Given the description of an element on the screen output the (x, y) to click on. 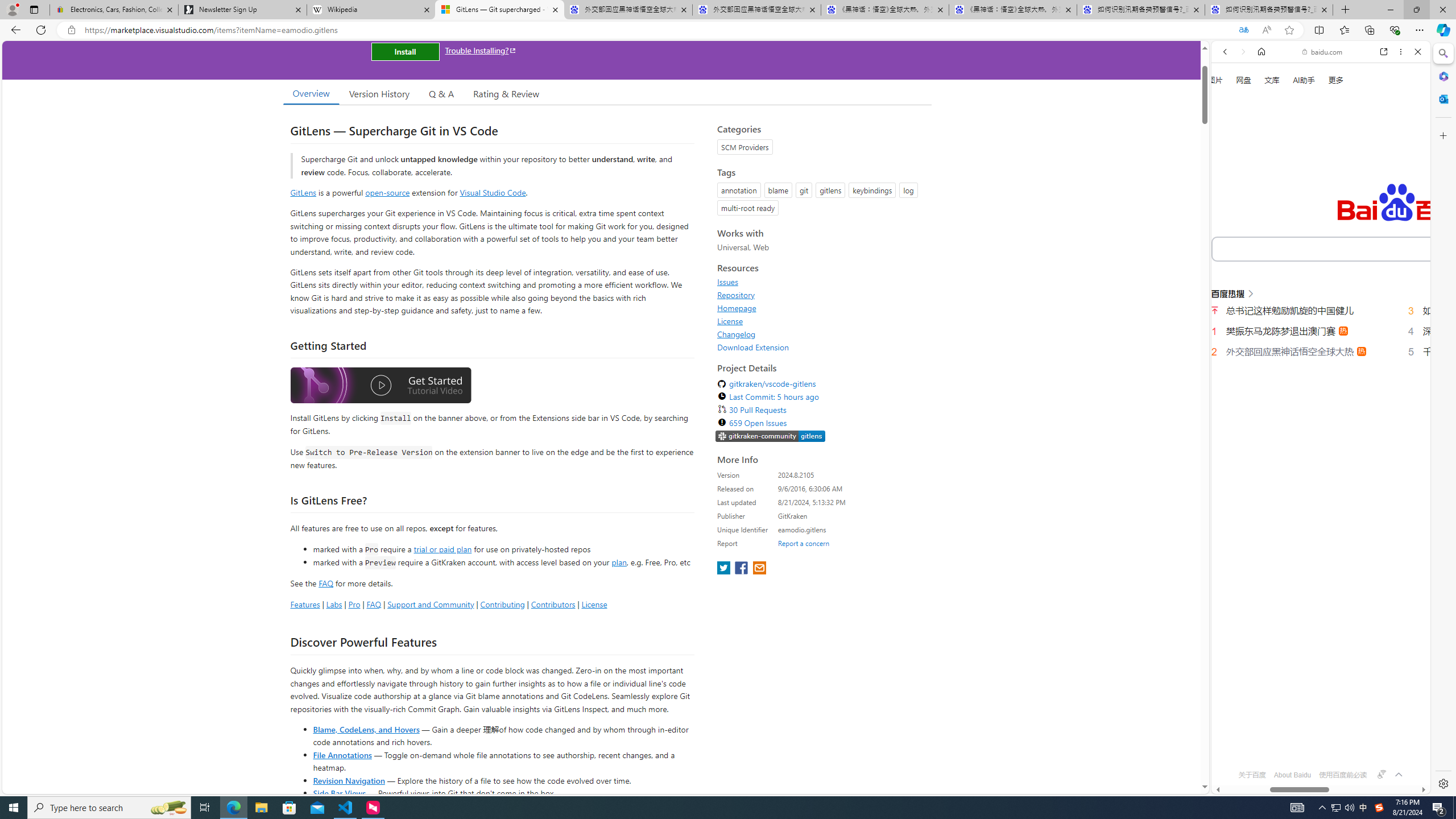
GitLens (303, 192)
Search Filter, WEB (1230, 192)
Contributors (552, 603)
Contributing (502, 603)
share extension on facebook (742, 568)
VIDEOS (1300, 192)
Version History (379, 92)
